Given the description of an element on the screen output the (x, y) to click on. 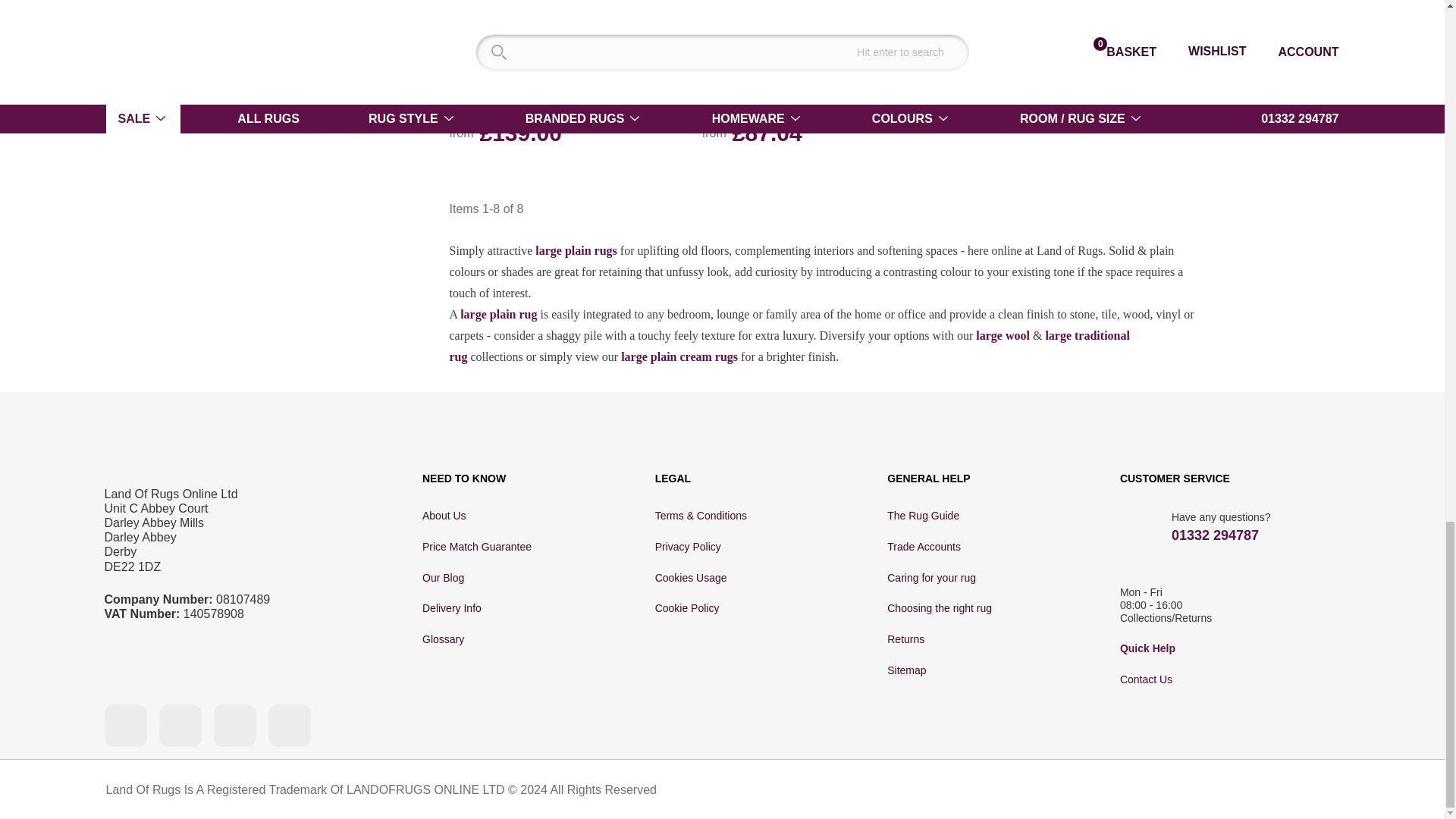
Google Pay (1184, 790)
Amazon Pay (1065, 787)
American Express (988, 790)
PayPal (1128, 788)
Klarna (1281, 790)
Apple Pay (1233, 790)
MasterCard (1016, 790)
Visa (948, 790)
